Given the description of an element on the screen output the (x, y) to click on. 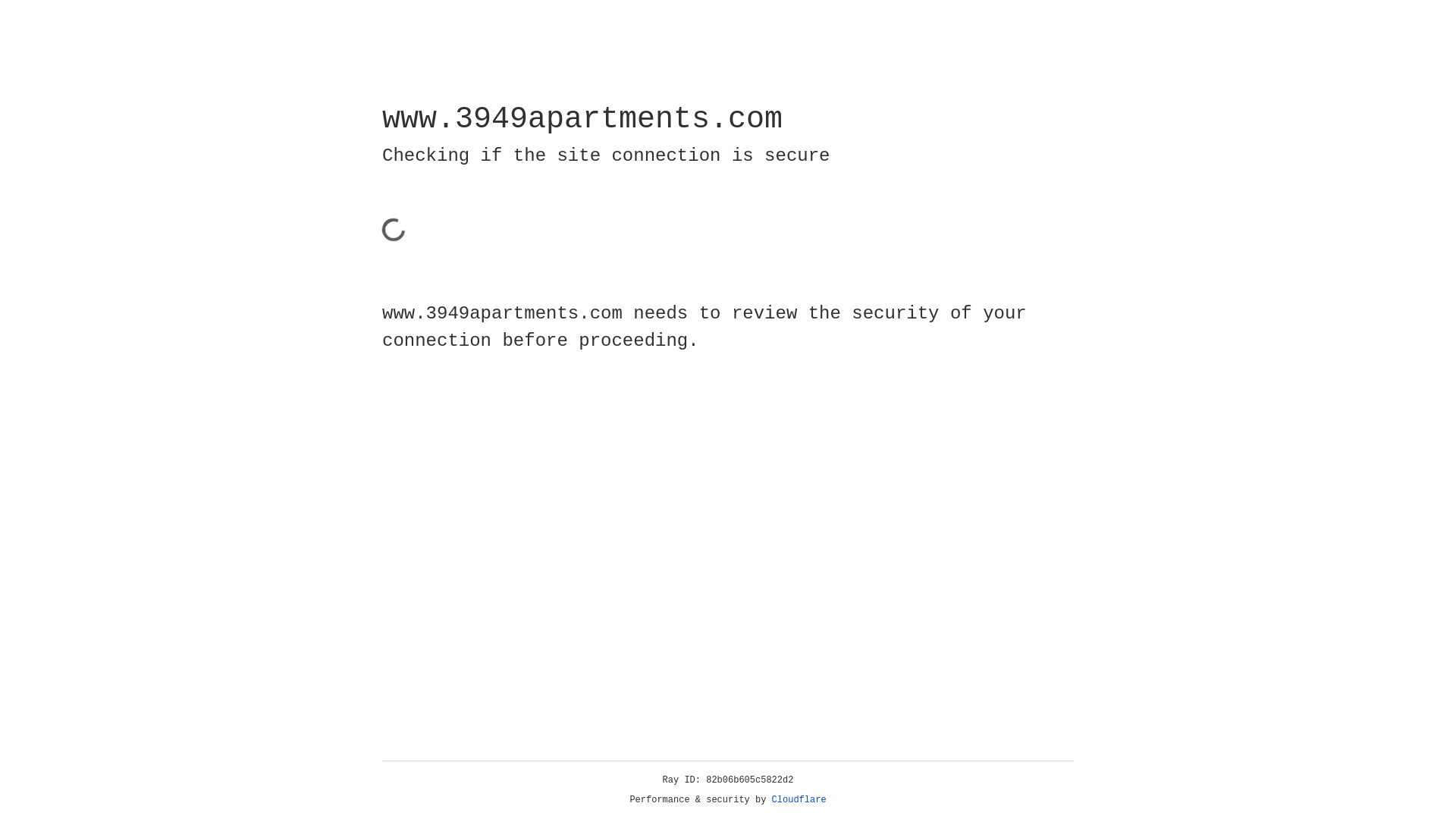
Cloudflare Element type: text (798, 799)
